Given the description of an element on the screen output the (x, y) to click on. 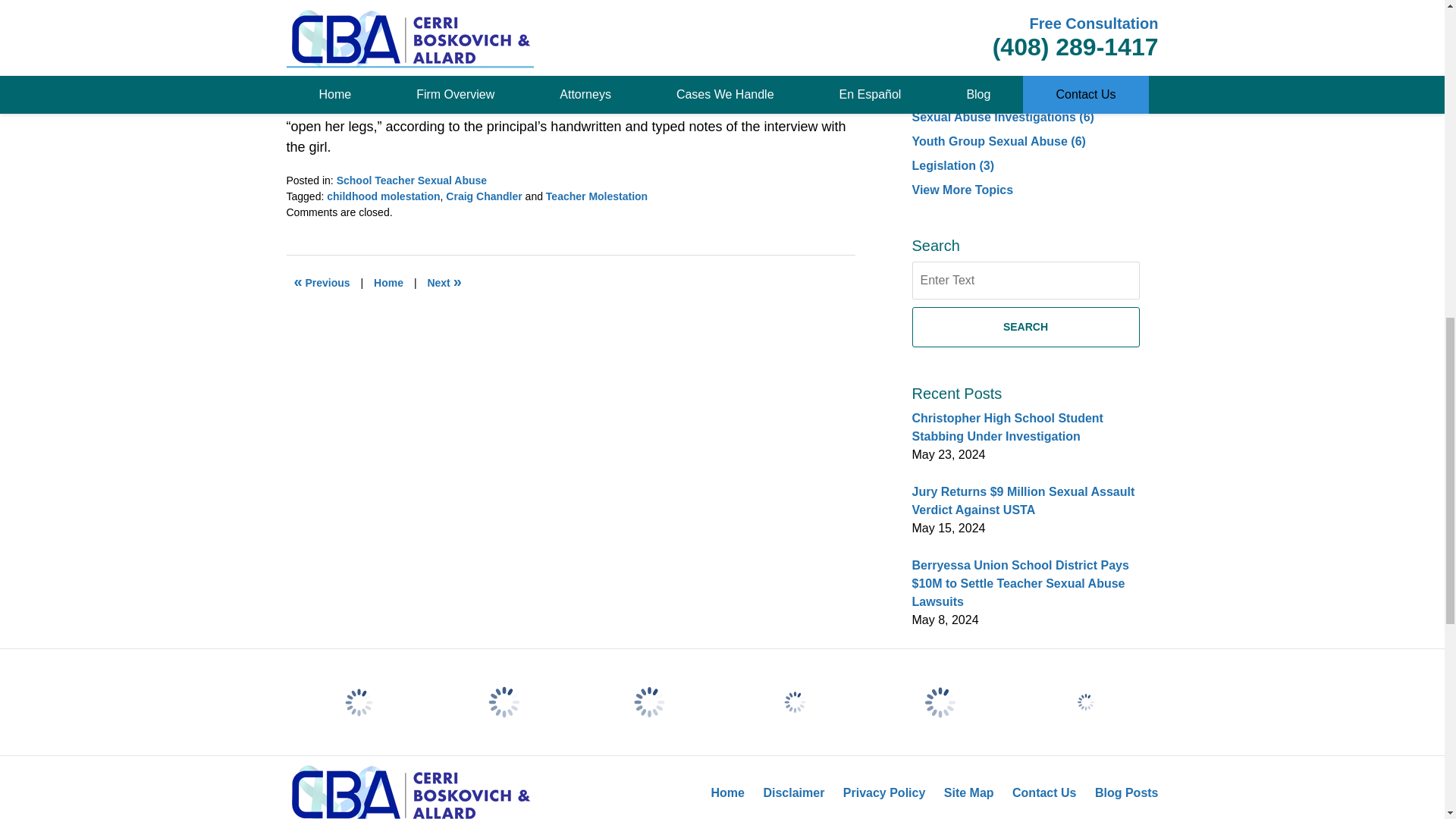
View all posts tagged with childhood molestation (382, 196)
View all posts tagged with Craig Chandler (483, 196)
View all posts in School Teacher Sexual Abuse (411, 180)
Mark Schubert Lawsuit Update (443, 282)
View all posts tagged with Teacher Molestation (596, 196)
KTVU News: O.B. Whaley School named in Molestation Claim (322, 282)
